Given the description of an element on the screen output the (x, y) to click on. 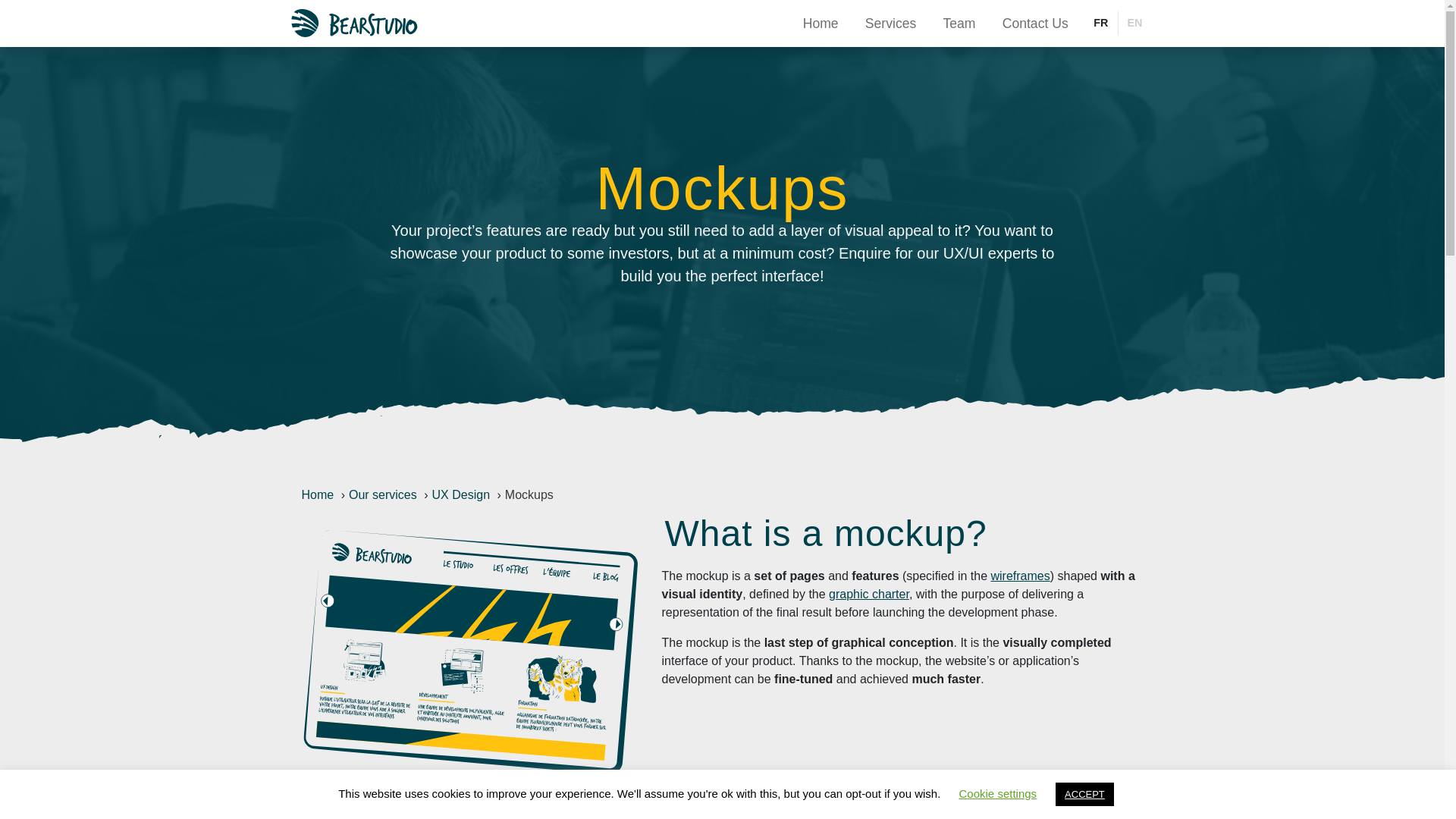
Our services (382, 494)
FR (1100, 23)
wireframes (1019, 575)
EN (1134, 23)
Home (820, 23)
ACCEPT (1084, 793)
English (1134, 23)
Team (959, 23)
Contact Us (1034, 23)
graphic charter (868, 594)
Services (890, 23)
Cookie settings (997, 793)
Home (317, 494)
UX Design (460, 494)
